Given the description of an element on the screen output the (x, y) to click on. 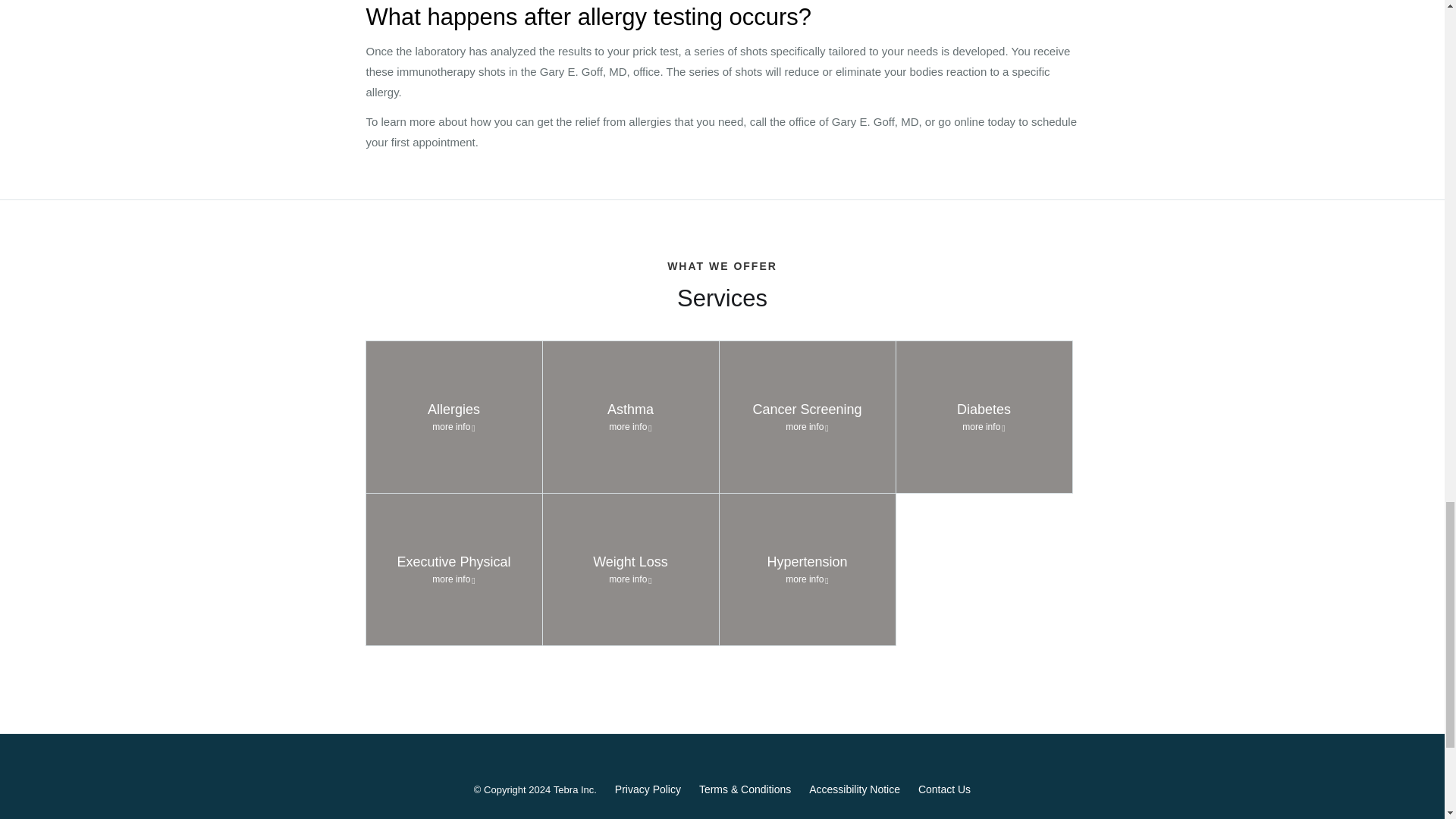
Privacy Policy (631, 569)
Accessibility Notice (453, 569)
Contact Us (647, 789)
